Given the description of an element on the screen output the (x, y) to click on. 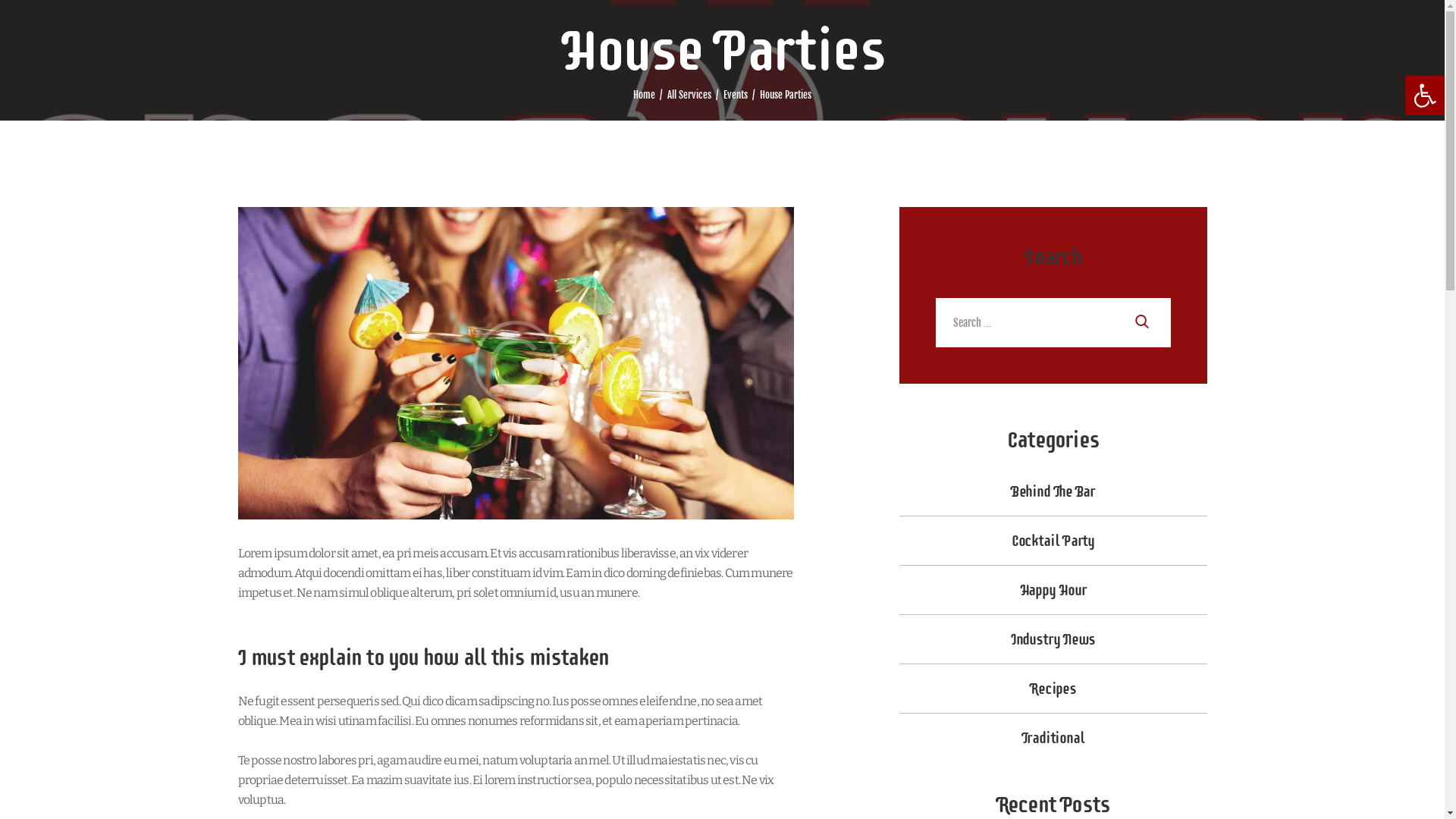
Cocktail Party Element type: text (1053, 540)
All Services Element type: text (689, 94)
Recipes Element type: text (1052, 688)
Search Element type: text (1146, 322)
Home Element type: text (644, 94)
Events Element type: text (735, 94)
Open toolbar
Accessibility Element type: text (1424, 95)
Behind The Bar Element type: text (1052, 491)
Industry News Element type: text (1052, 639)
Happy Hour Element type: text (1052, 589)
Traditional Element type: text (1052, 737)
